Given the description of an element on the screen output the (x, y) to click on. 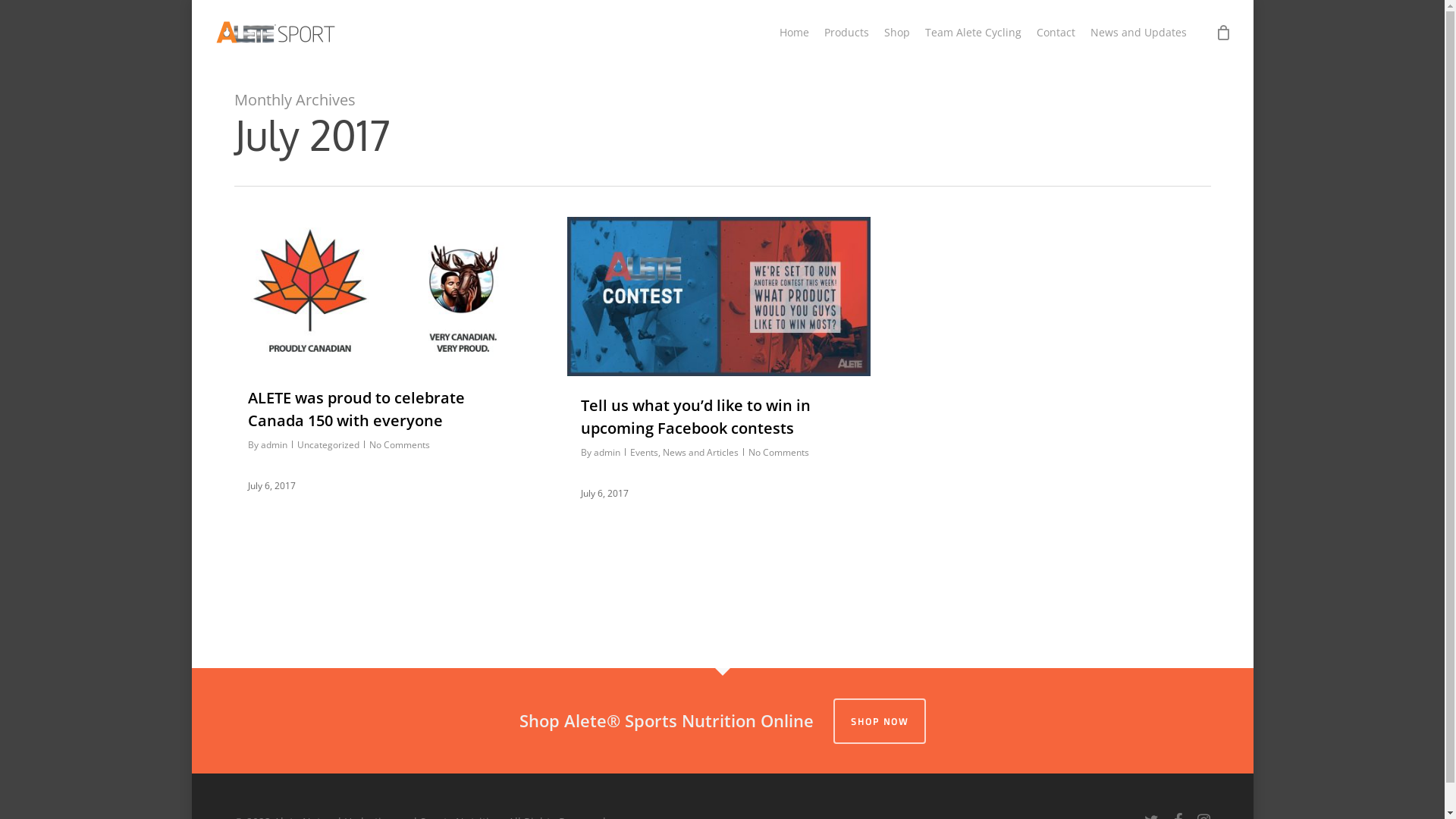
Uncategorized Element type: text (328, 444)
Home Element type: text (793, 32)
News and Articles Element type: text (700, 451)
Contact Element type: text (1055, 32)
Events Element type: text (643, 451)
Products Element type: text (845, 32)
admin Element type: text (606, 451)
No Comments Element type: text (777, 451)
ALETE was proud to celebrate Canada 150 with everyone Element type: text (355, 408)
Shop Element type: text (896, 32)
No Comments Element type: text (398, 444)
admin Element type: text (273, 444)
SHOP NOW Element type: text (878, 720)
Team Alete Cycling Element type: text (973, 32)
News and Updates Element type: text (1138, 32)
